Given the description of an element on the screen output the (x, y) to click on. 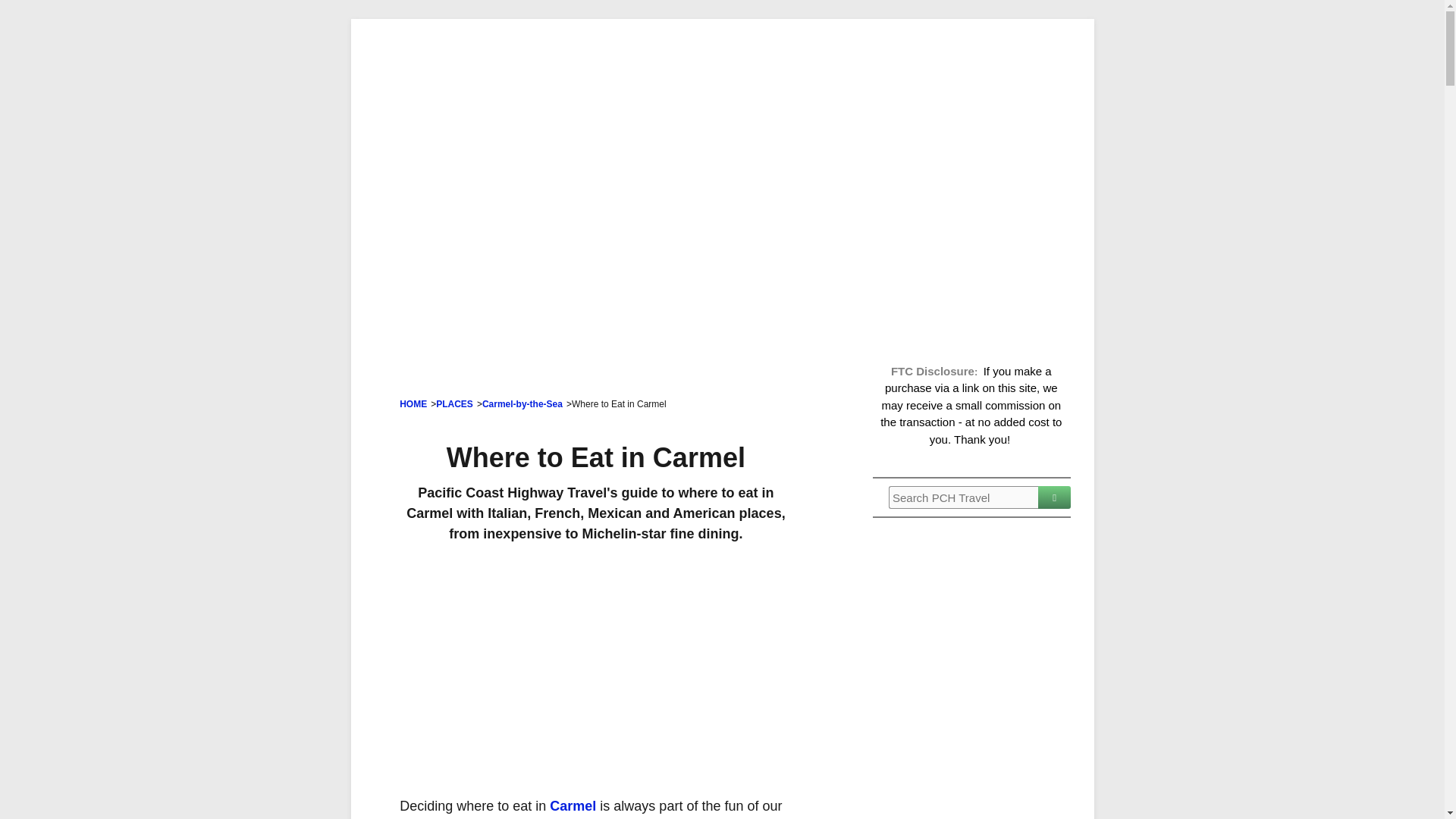
PLACES (454, 403)
Carmel (574, 806)
PLACES (618, 37)
Carmel-by-the-Sea (521, 403)
Our PCH Blog (412, 68)
Pacific Coast Highway Travel (722, 138)
Patisserie-Boissiere-Carmel.jpg (595, 667)
WHAT TO DO (723, 37)
BEFORE YOU GO (500, 37)
EAT AND STAY (967, 37)
HOME (388, 37)
HOME (412, 403)
MORE... (518, 68)
WAYS TO GO (844, 37)
